Given the description of an element on the screen output the (x, y) to click on. 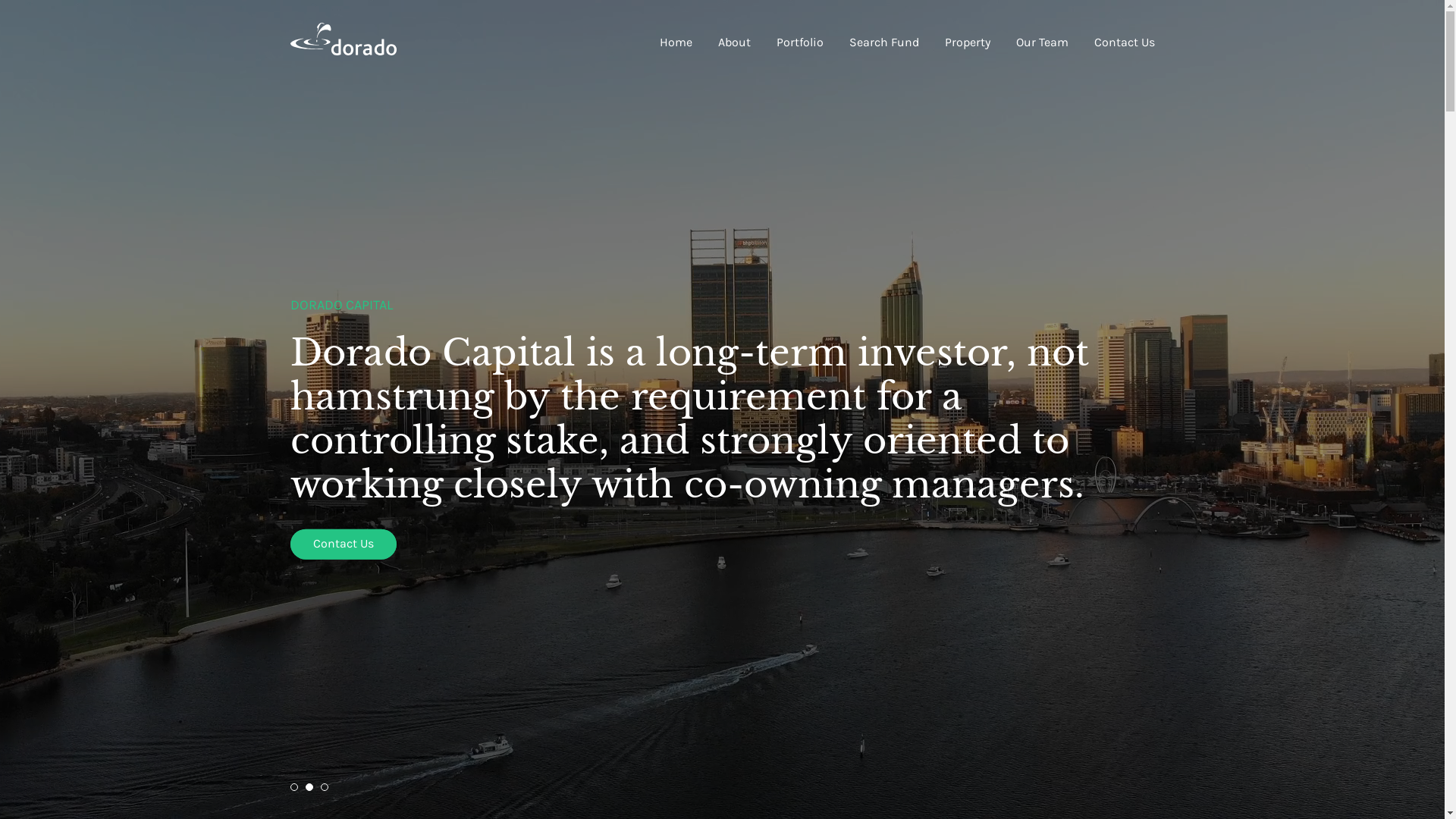
Contact Us Element type: text (1123, 42)
Our Team Element type: text (1042, 42)
Property Element type: text (967, 42)
Contact Us Element type: text (378, 543)
Portfolio Element type: text (799, 42)
Search Fund Element type: text (884, 42)
Home Element type: text (675, 42)
About Element type: text (733, 42)
